Given the description of an element on the screen output the (x, y) to click on. 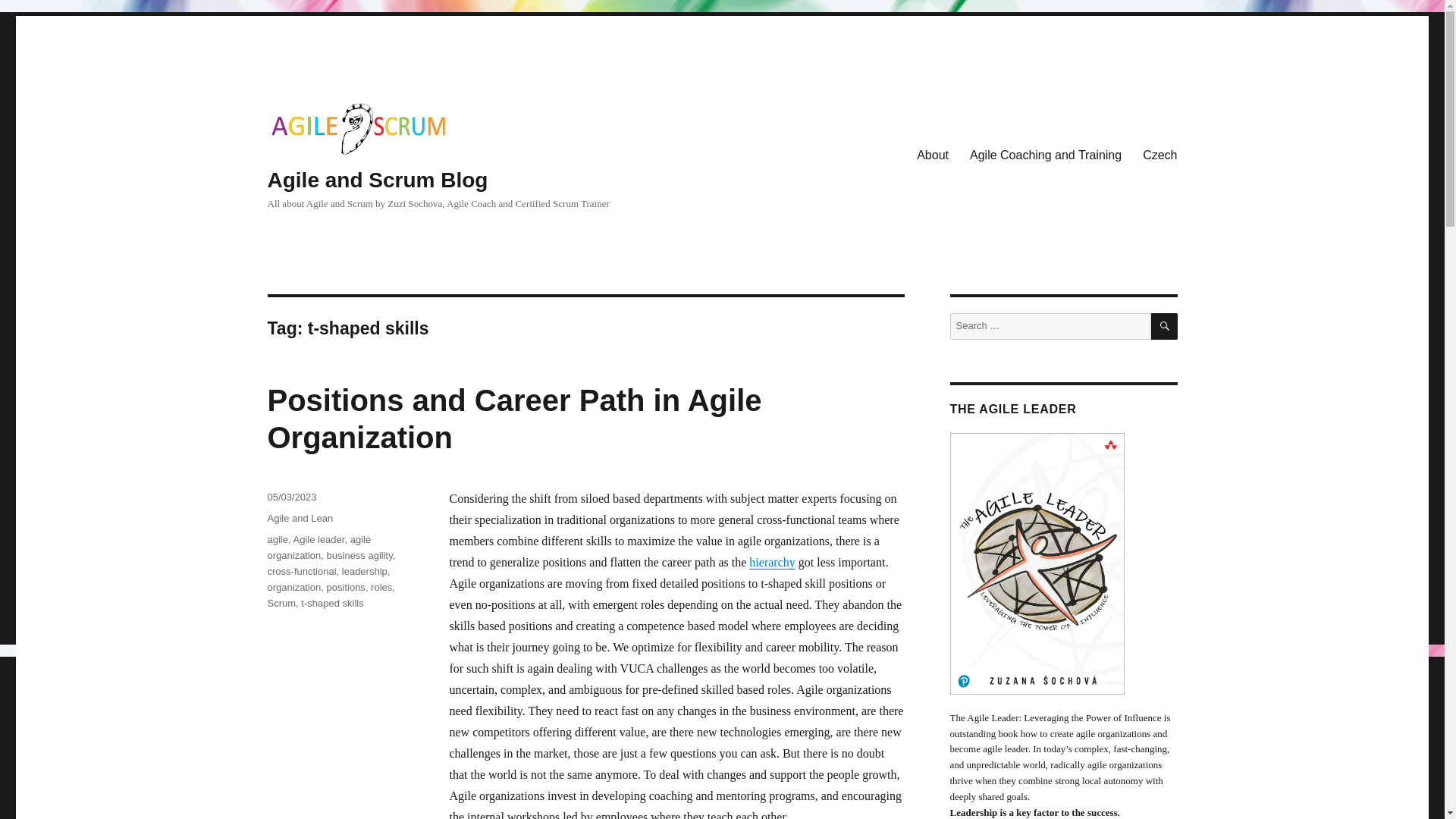
business agility (359, 555)
organization (293, 586)
Agile and Lean (299, 518)
About (932, 154)
positions (345, 586)
t-shaped skills (331, 603)
roles (381, 586)
Positions and Career Path in Agile Organization (513, 419)
agile organization (318, 547)
Agile and Scrum Blog (376, 179)
